Given the description of an element on the screen output the (x, y) to click on. 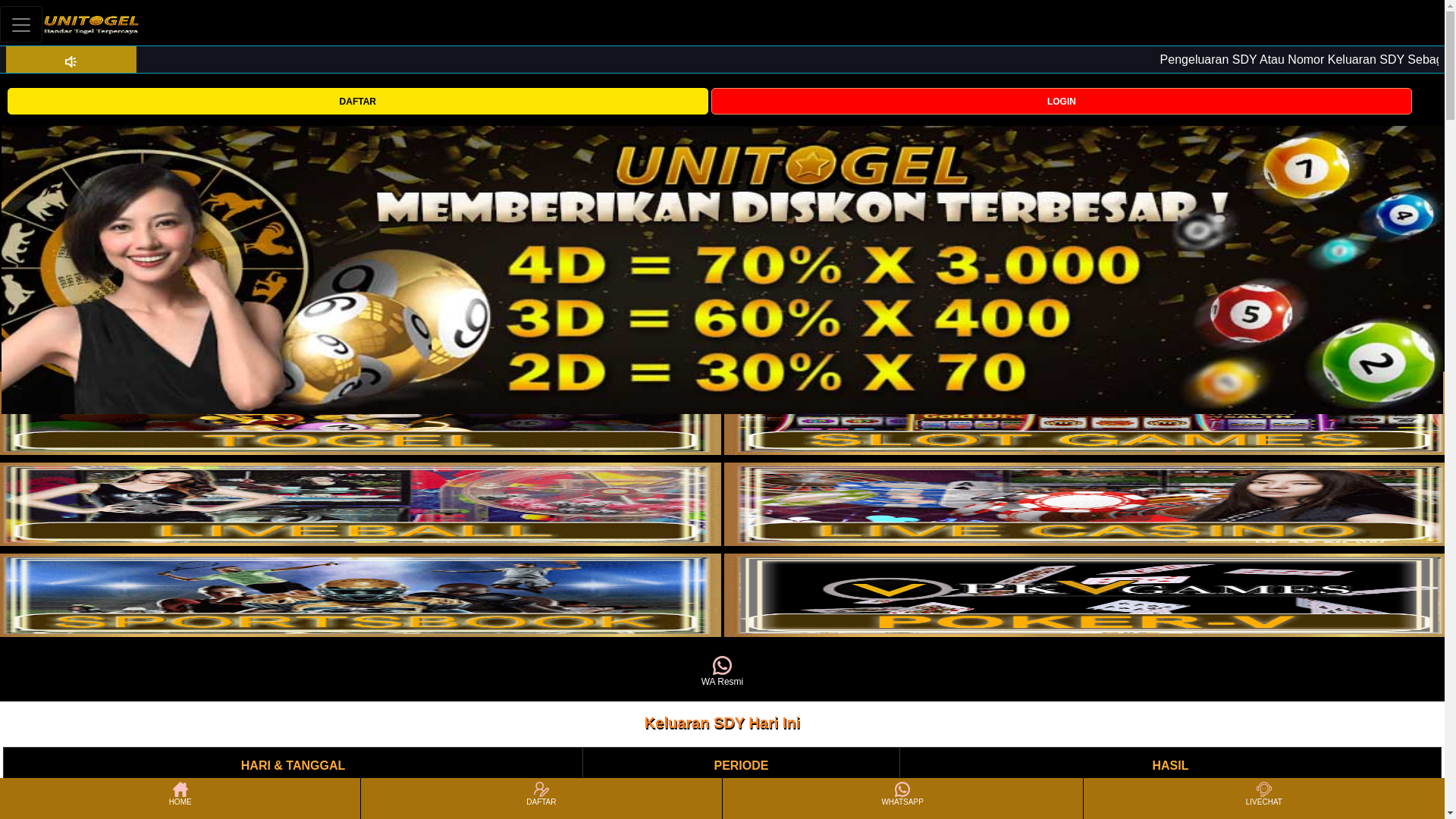
DAFTAR (357, 100)
LOGIN (1061, 100)
HOME (179, 798)
LIVECHAT (1263, 798)
WHATSAPP (901, 798)
WA Resmi (722, 672)
DAFTAR (357, 100)
DAFTAR (540, 798)
LOGIN (1061, 100)
